Given the description of an element on the screen output the (x, y) to click on. 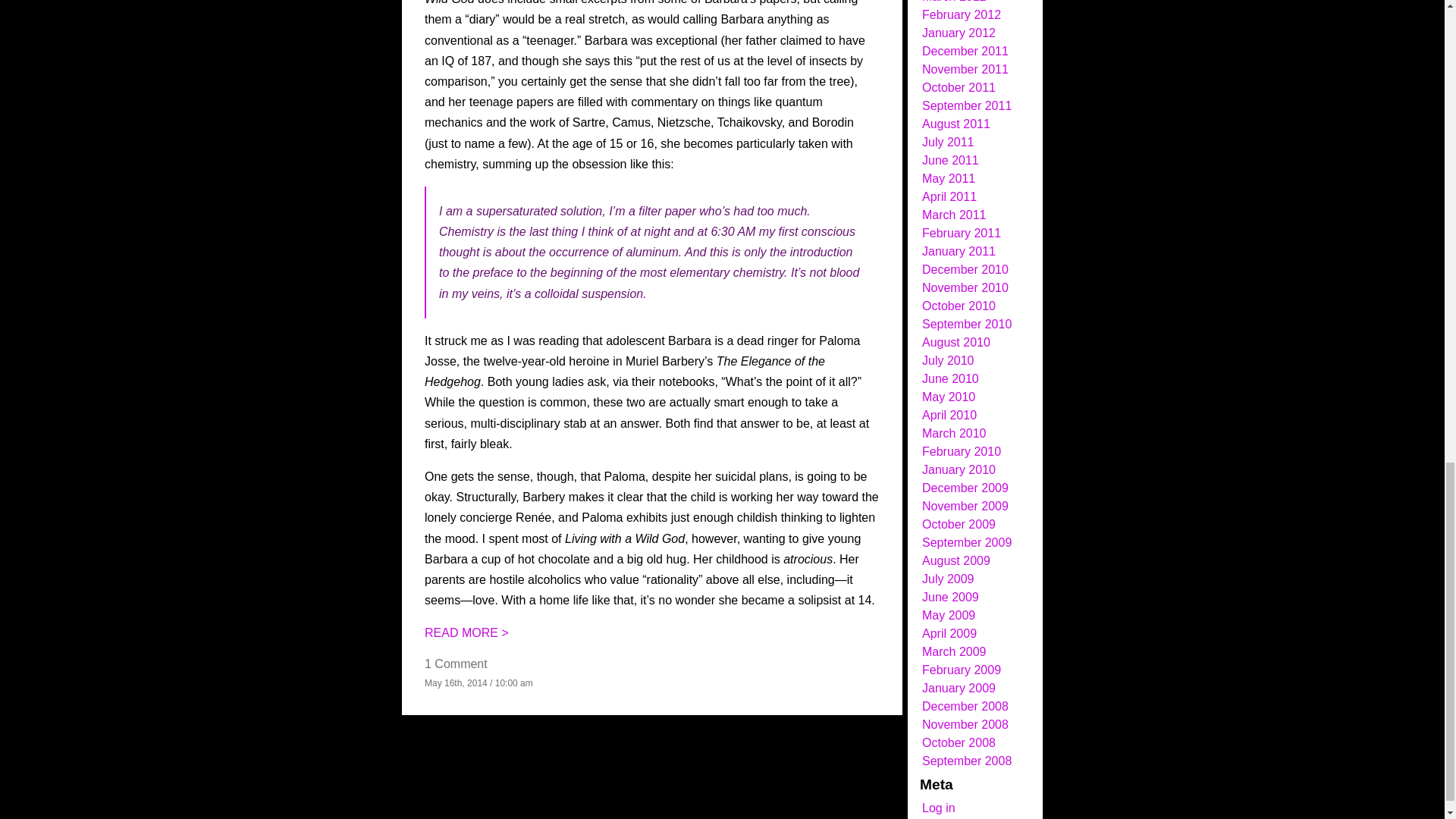
1 Comment (456, 663)
